Given the description of an element on the screen output the (x, y) to click on. 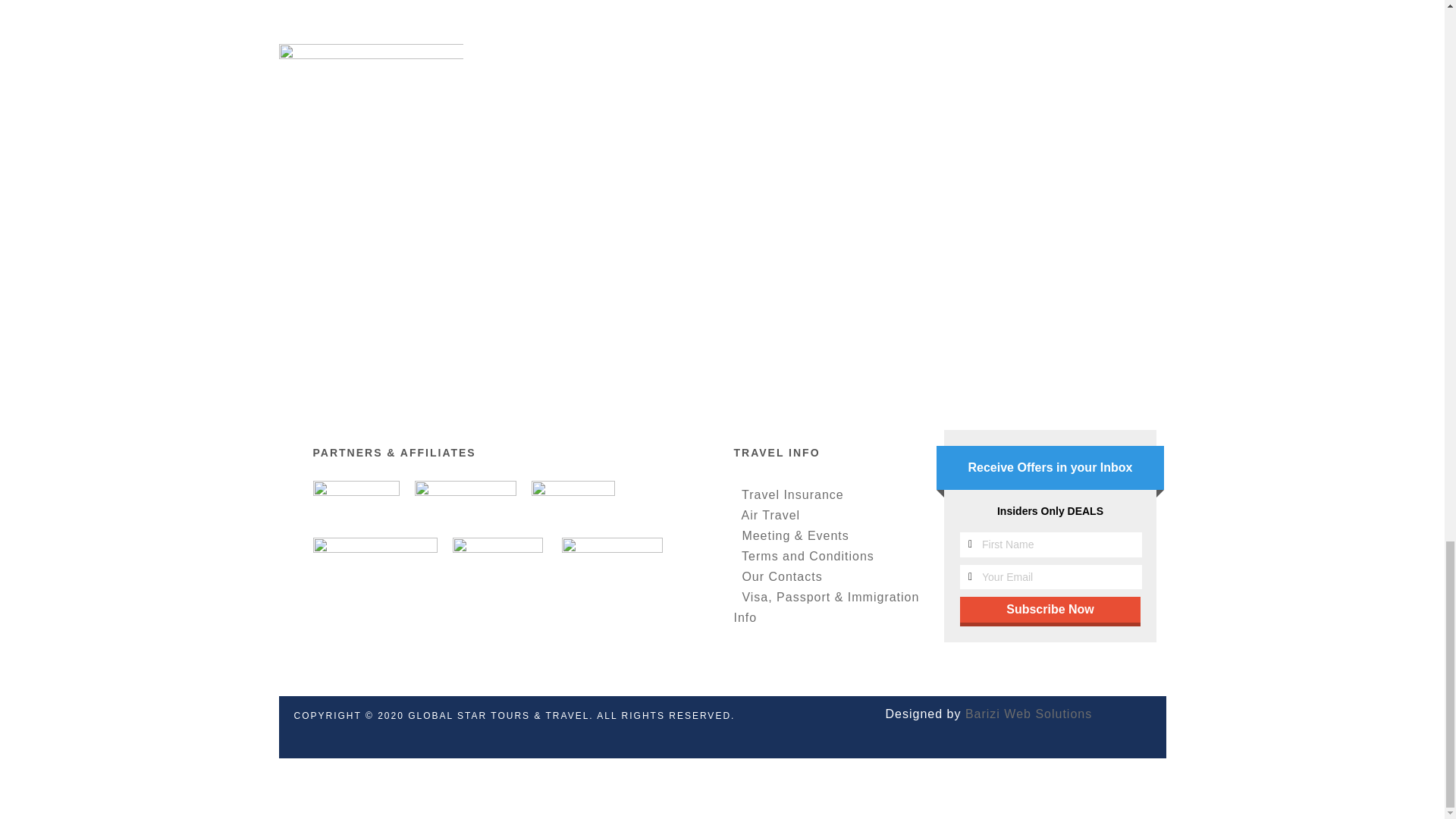
Subscribe Now (1049, 609)
